Given the description of an element on the screen output the (x, y) to click on. 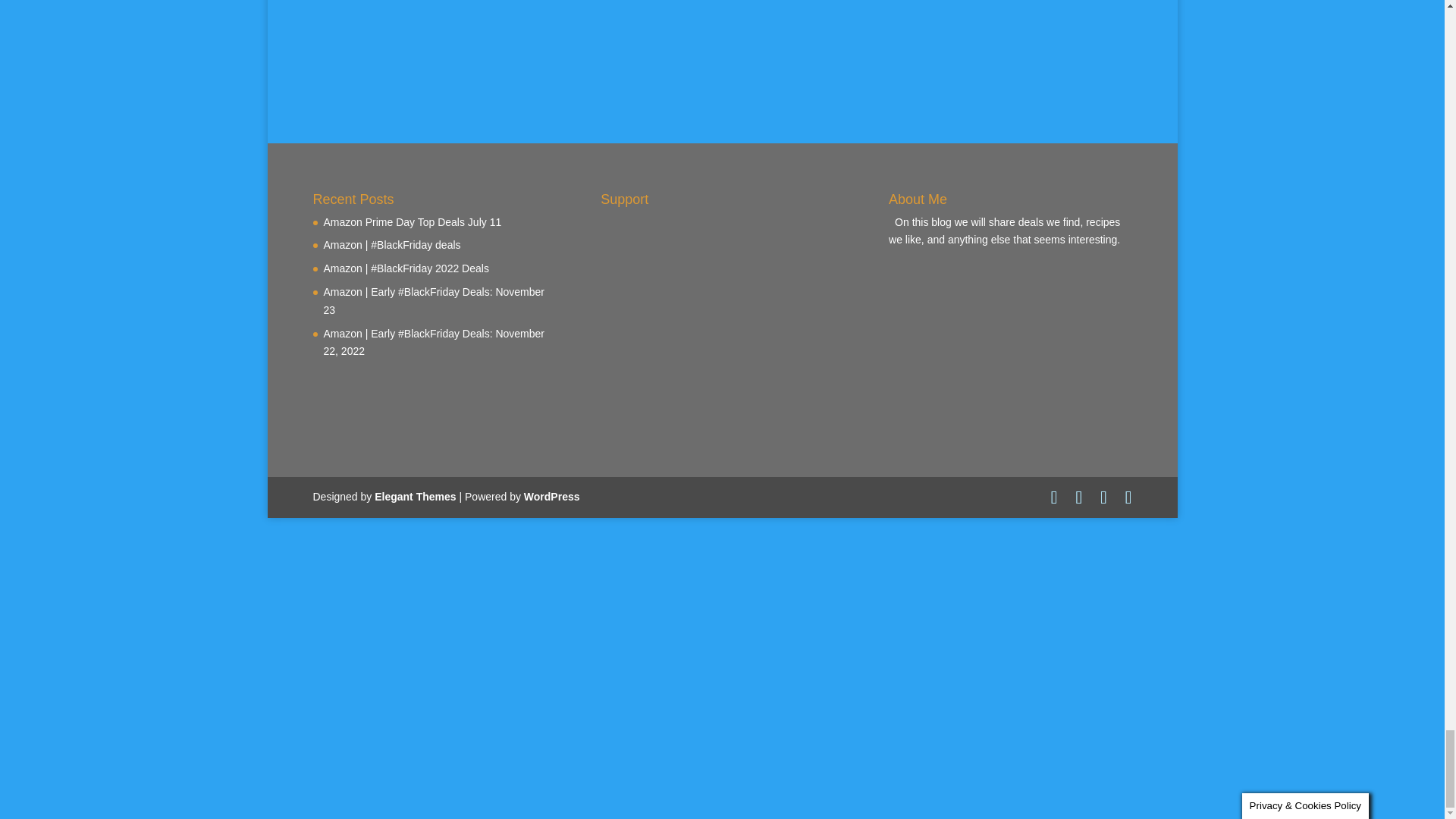
Premium WordPress Themes (414, 496)
